Given the description of an element on the screen output the (x, y) to click on. 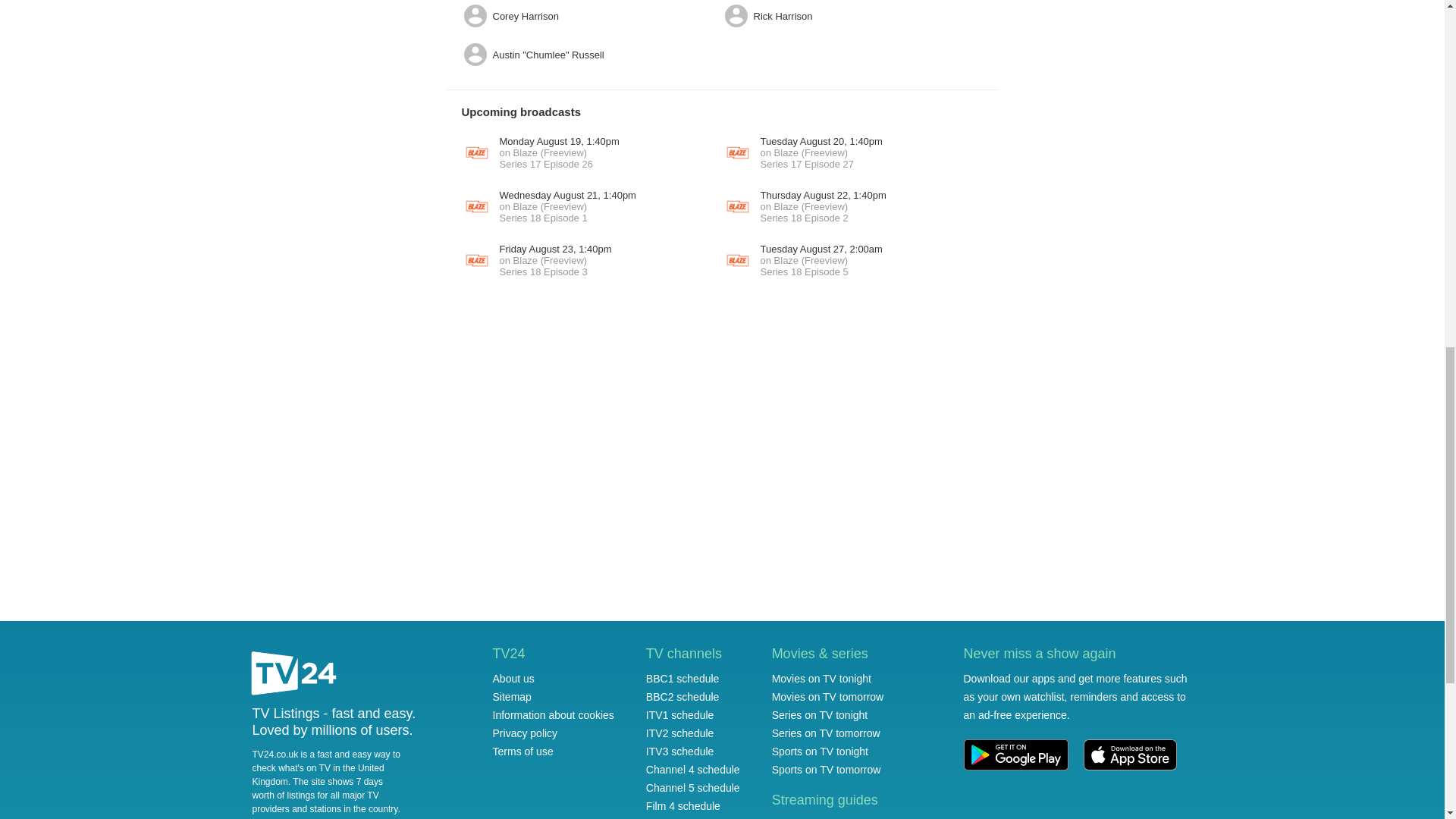
Terms of use (523, 751)
ITV3 schedule (680, 751)
ITV1 schedule (680, 715)
ITV1 schedule (680, 715)
BBC2 schedule (682, 696)
TV24.co.uk (294, 674)
Film 4 schedule (683, 806)
Channel 5 schedule (692, 787)
BBC1 schedule (682, 678)
Sitemap (512, 696)
